Given the description of an element on the screen output the (x, y) to click on. 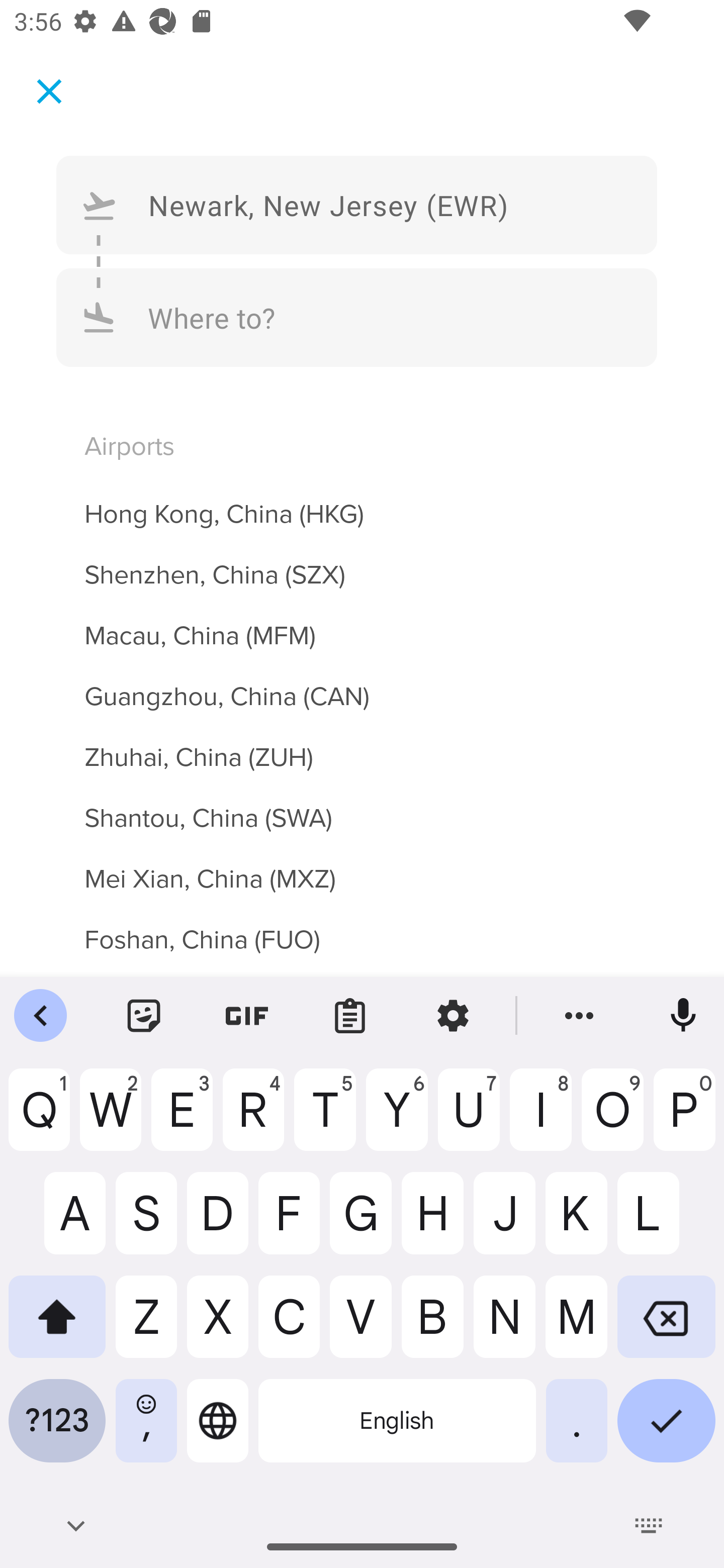
Cancel (49, 90)
Newark, New Jersey (EWR) (356, 204)
Where to? (356, 317)
Hong Kong, China (HKG) (361, 502)
Shenzhen, China (SZX) (361, 563)
Macau, China (MFM) (361, 624)
Guangzhou, China (CAN) (361, 685)
Zhuhai, China (ZUH) (361, 745)
Shantou, China (SWA) (361, 806)
Mei Xian, China (MXZ) (361, 867)
Foshan, China (FUO) (361, 937)
